Given the description of an element on the screen output the (x, y) to click on. 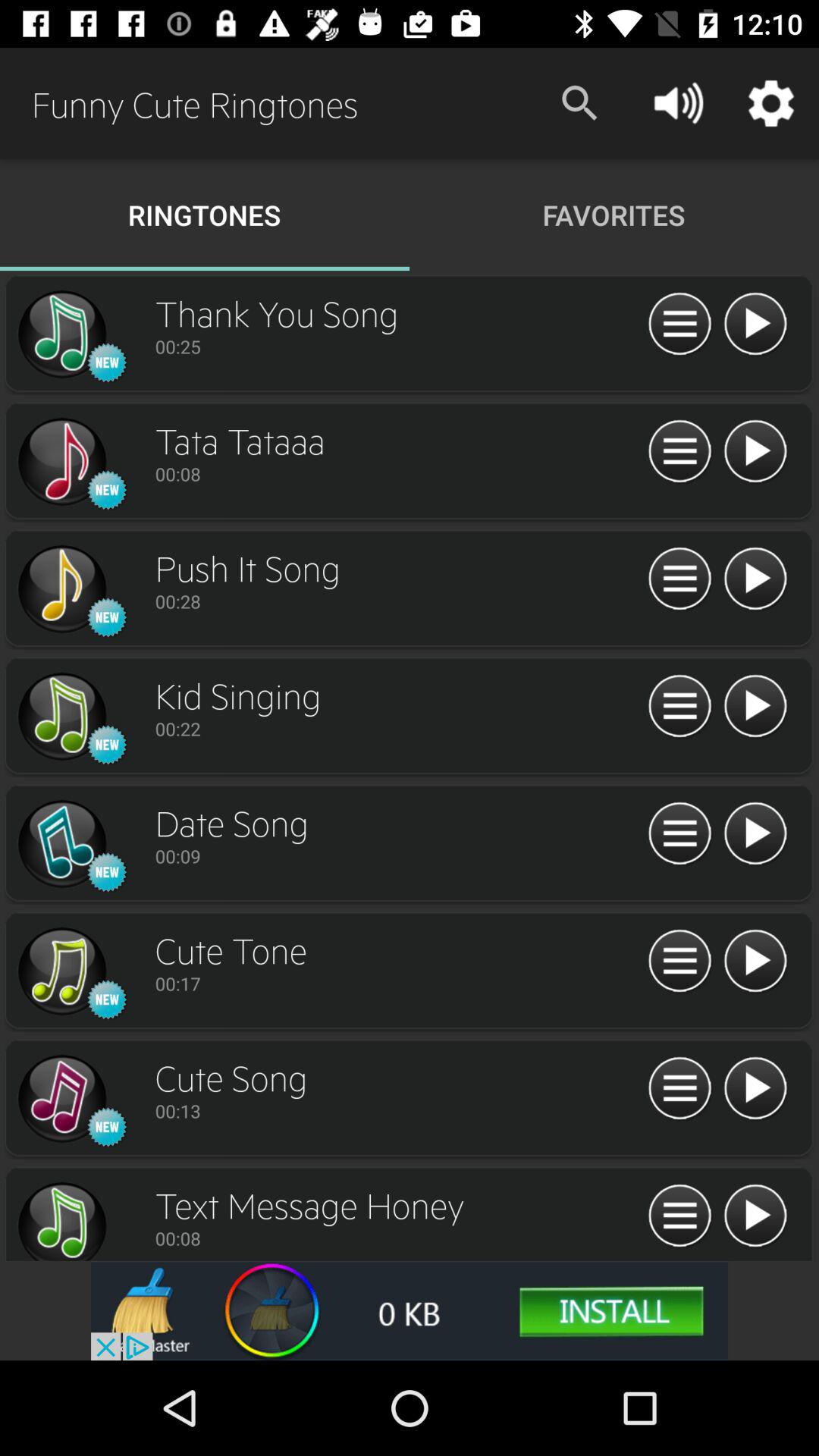
play button (755, 1216)
